Given the description of an element on the screen output the (x, y) to click on. 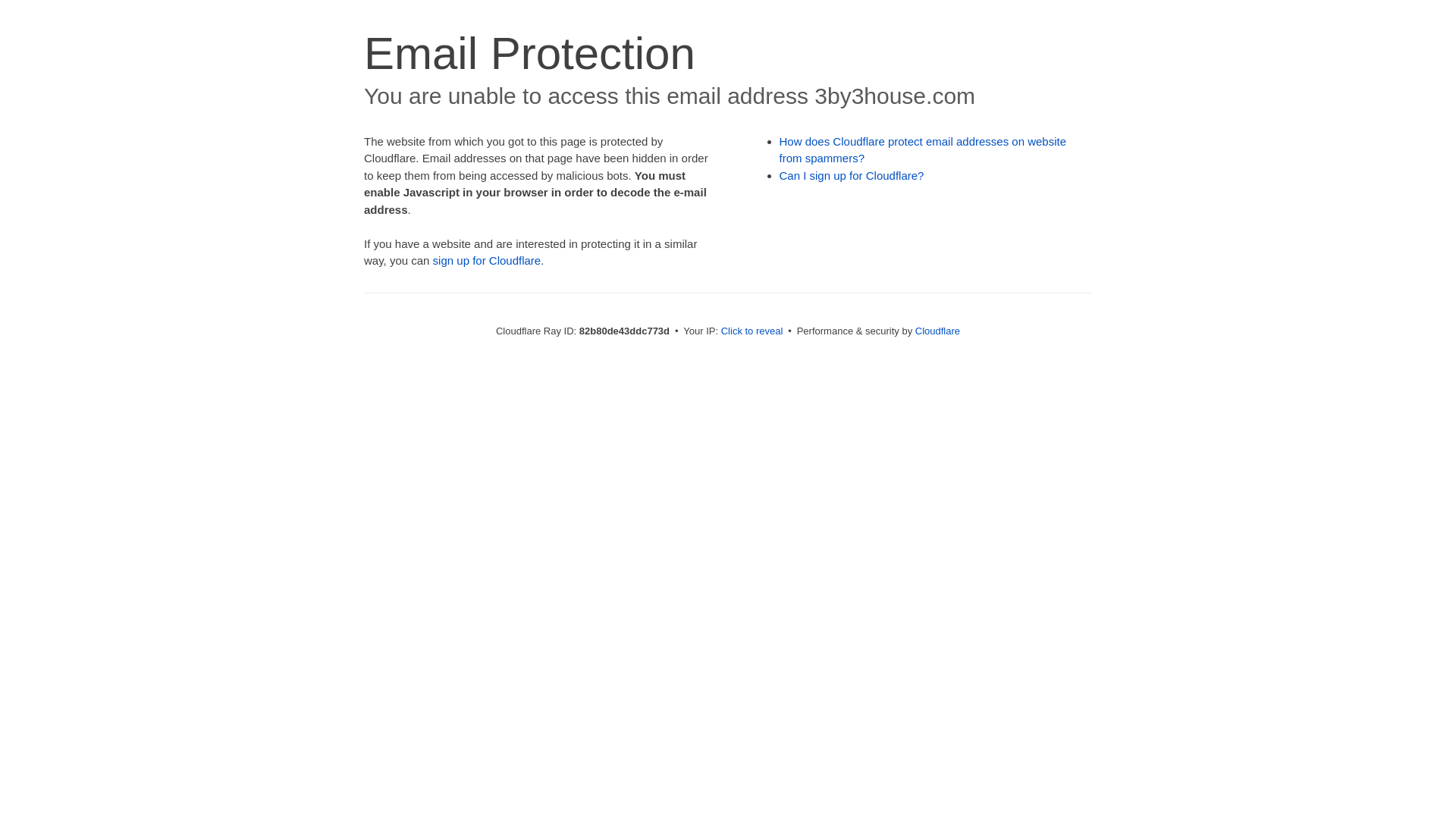
Click to reveal Element type: text (752, 330)
Cloudflare Element type: text (937, 330)
Can I sign up for Cloudflare? Element type: text (851, 175)
sign up for Cloudflare Element type: text (487, 260)
